Given the description of an element on the screen output the (x, y) to click on. 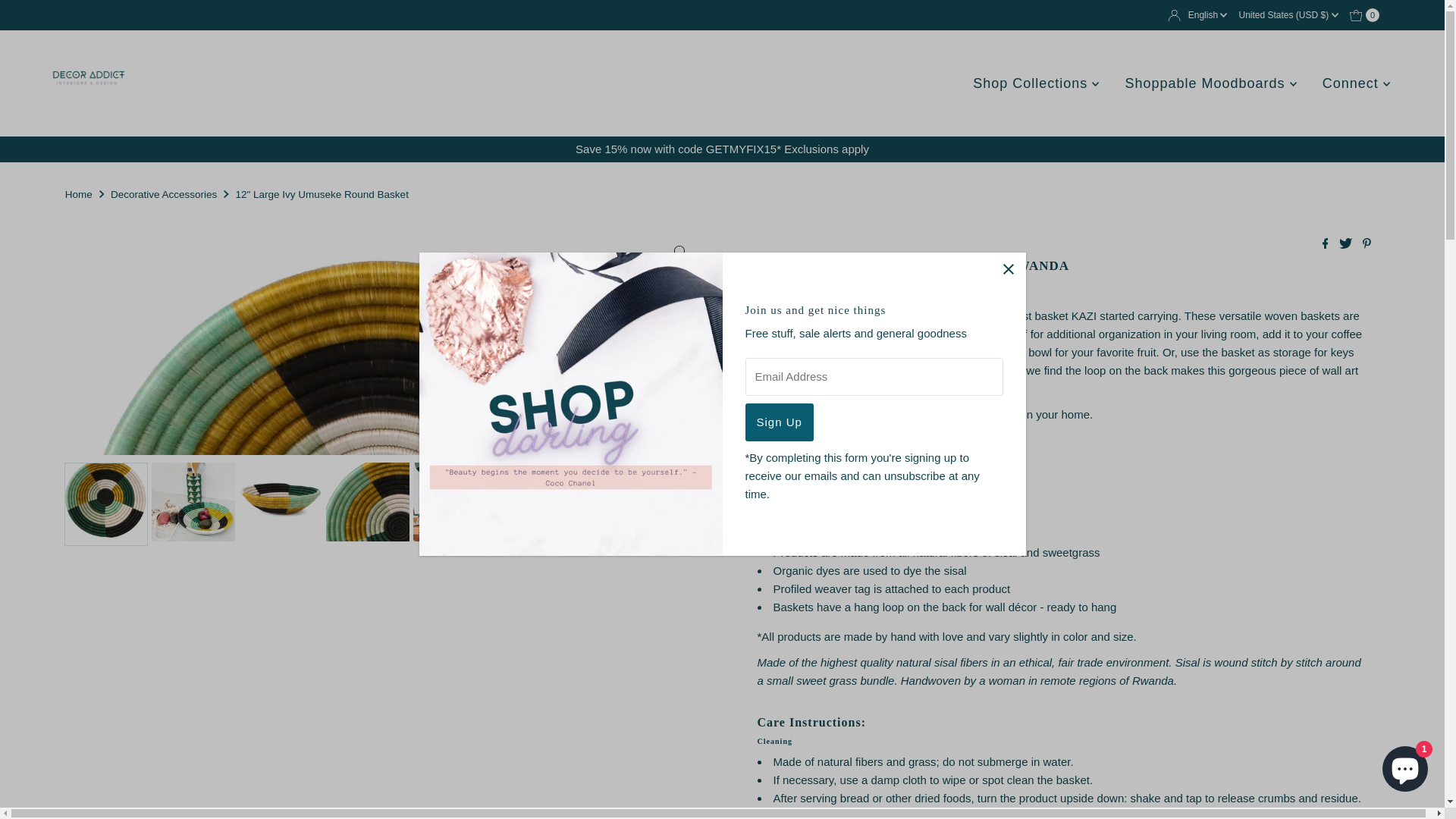
0 (1364, 15)
Share on Facebook (1327, 244)
Share on Pinterest (1366, 244)
Share on Twitter (1347, 244)
Decorative Accessories (165, 194)
English  (1207, 14)
Back to the frontpage (80, 194)
Sign Up (778, 422)
